Given the description of an element on the screen output the (x, y) to click on. 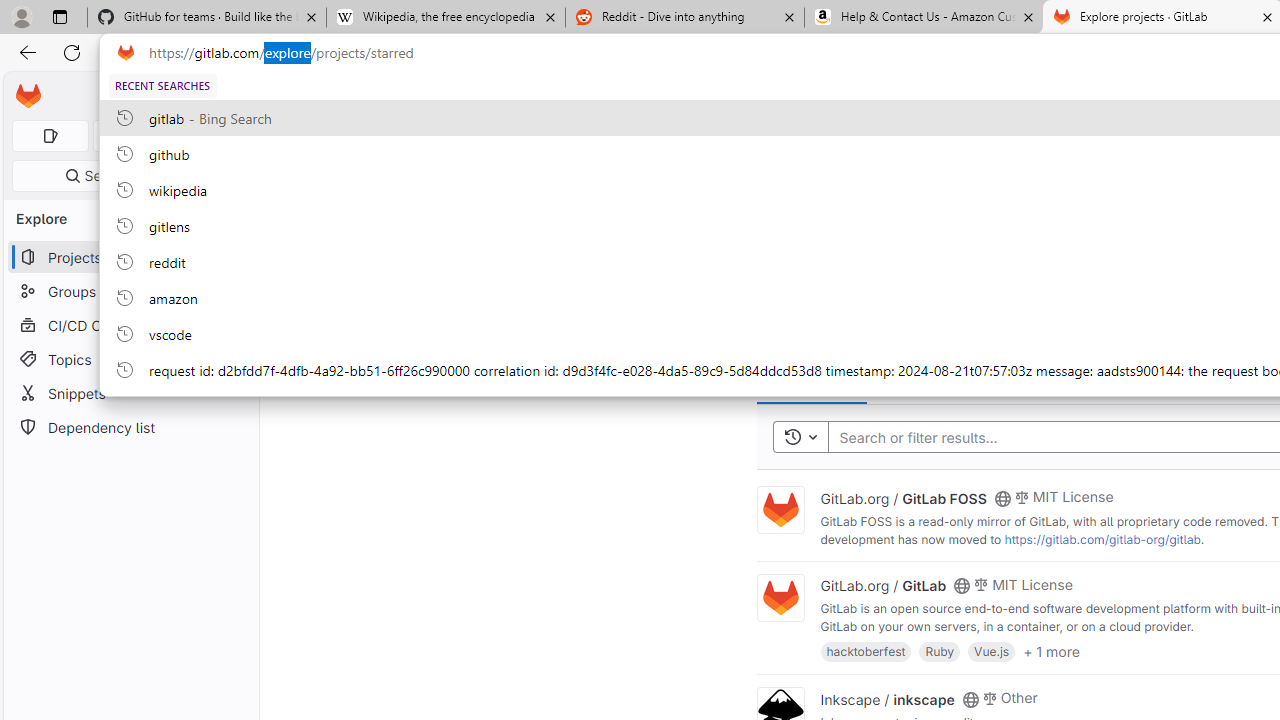
Snippets (130, 393)
Active (982, 379)
Toggle history (800, 437)
Groups (130, 291)
hacktoberfest (866, 650)
All (1111, 379)
Explore/ (316, 95)
Class: s16 (970, 699)
Trending (907, 379)
Inactive (1052, 379)
Merge requests 0 (131, 136)
Create new... (201, 96)
